Given the description of an element on the screen output the (x, y) to click on. 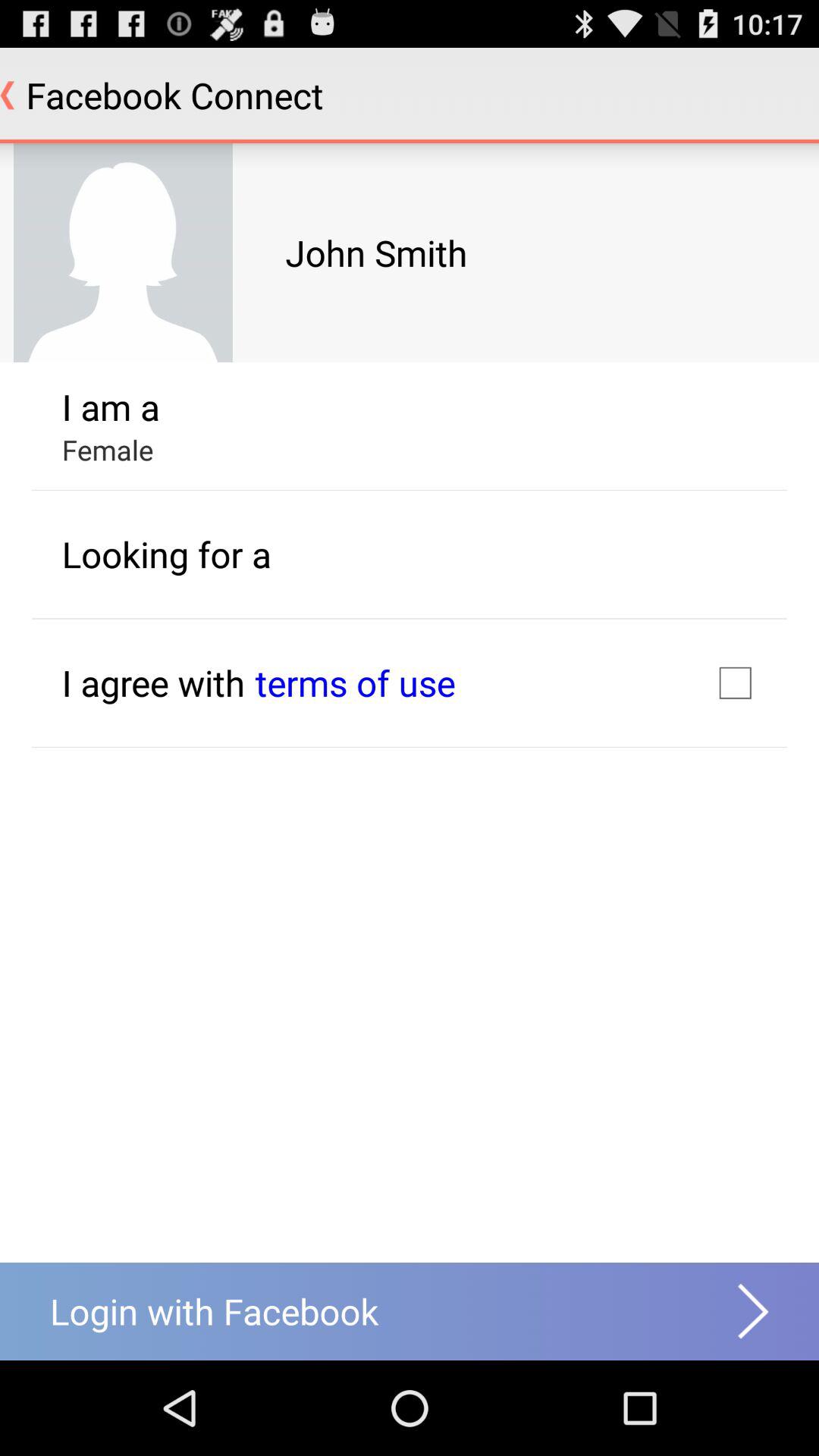
swipe until the i am a icon (110, 406)
